Given the description of an element on the screen output the (x, y) to click on. 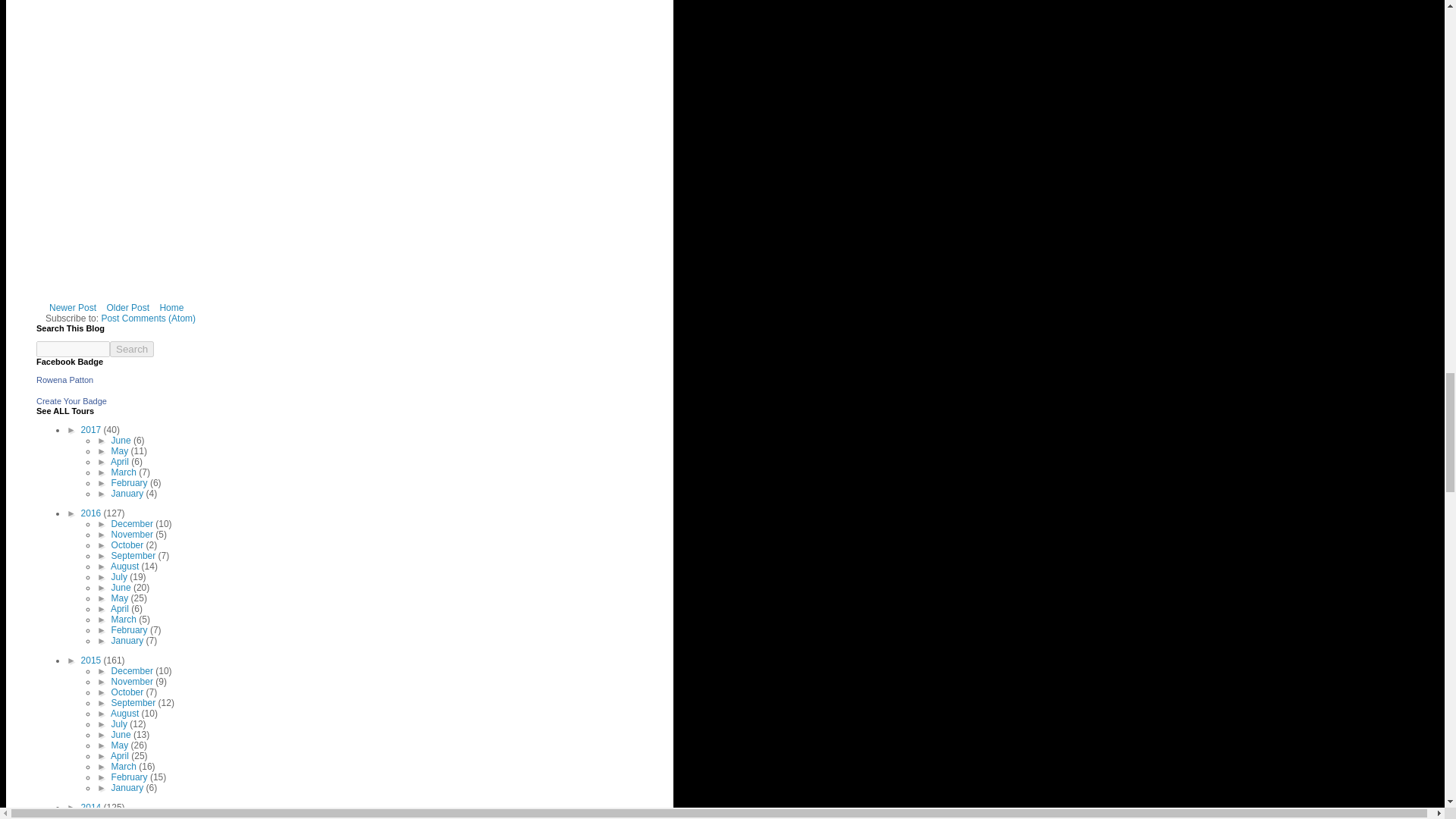
search (132, 349)
AllStarPowerhouse (64, 379)
Newer Post (72, 307)
Make your own badge! (71, 400)
Search (132, 349)
Search (132, 349)
search (73, 349)
Older Post (126, 307)
